Given the description of an element on the screen output the (x, y) to click on. 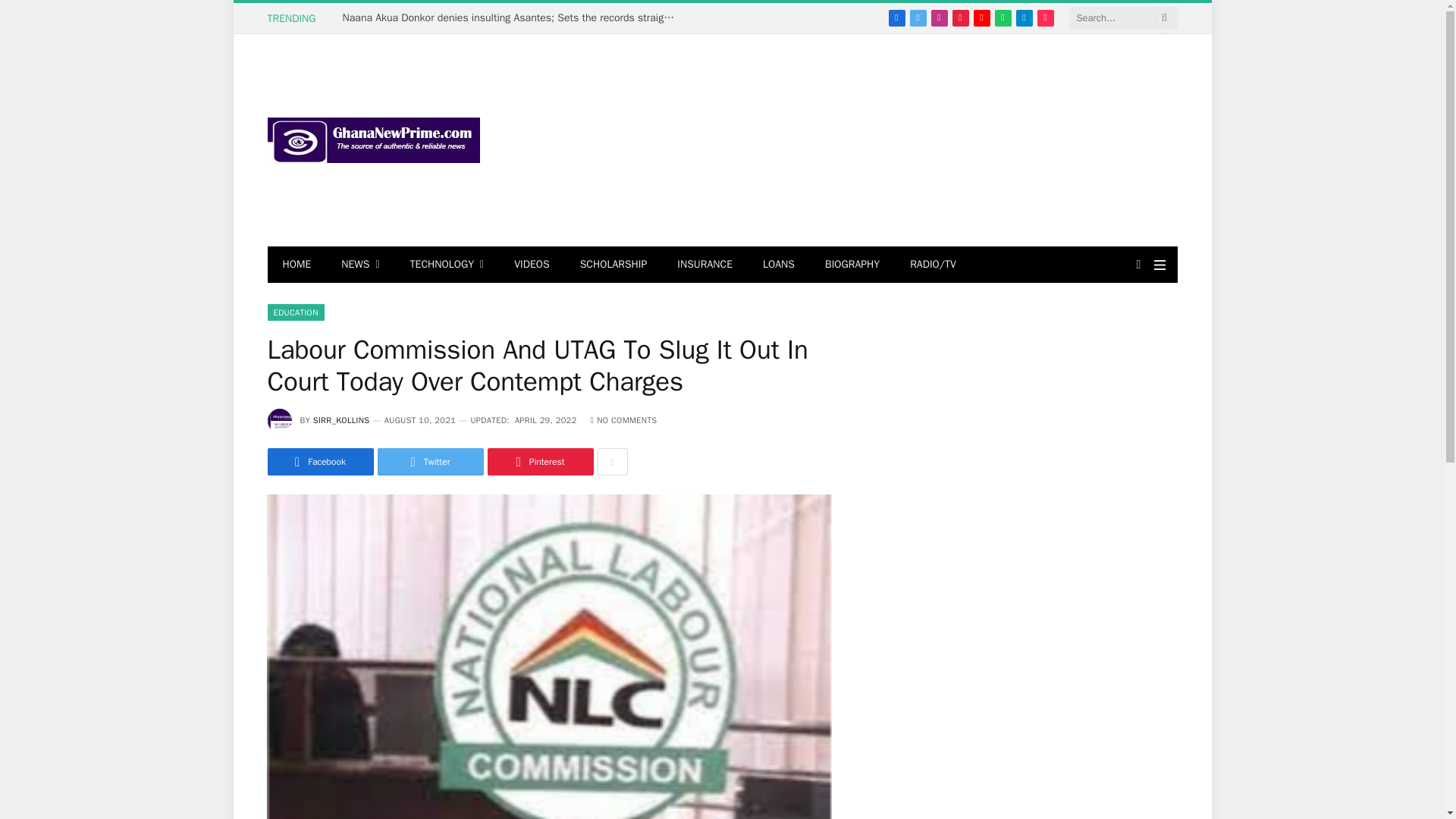
Advertisement (900, 140)
Pinterest (960, 17)
Ghananewsprime (372, 139)
TikTok (1045, 17)
Twitter (918, 17)
Facebook (896, 17)
NEWS (360, 264)
Share on Facebook (319, 461)
Instagram (939, 17)
Telegram (1024, 17)
